Given the description of an element on the screen output the (x, y) to click on. 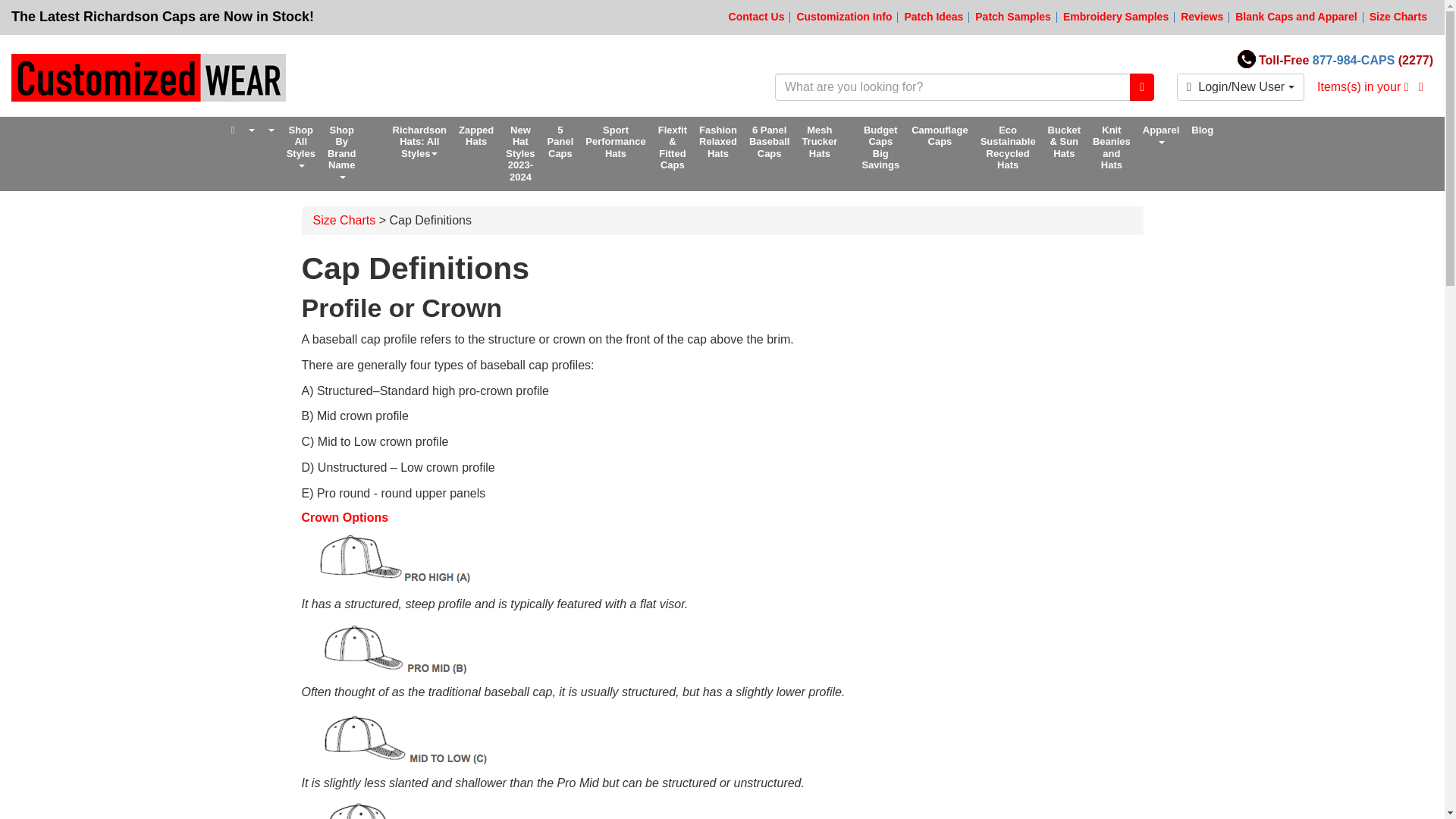
Patch Ideas (933, 16)
Blank Caps and Apparel (1295, 16)
Patch Samples (1013, 16)
Contact Us (756, 16)
Reviews (1201, 16)
Size Charts (1398, 16)
Customization Info (843, 16)
Embroidery Samples (1115, 16)
